Given the description of an element on the screen output the (x, y) to click on. 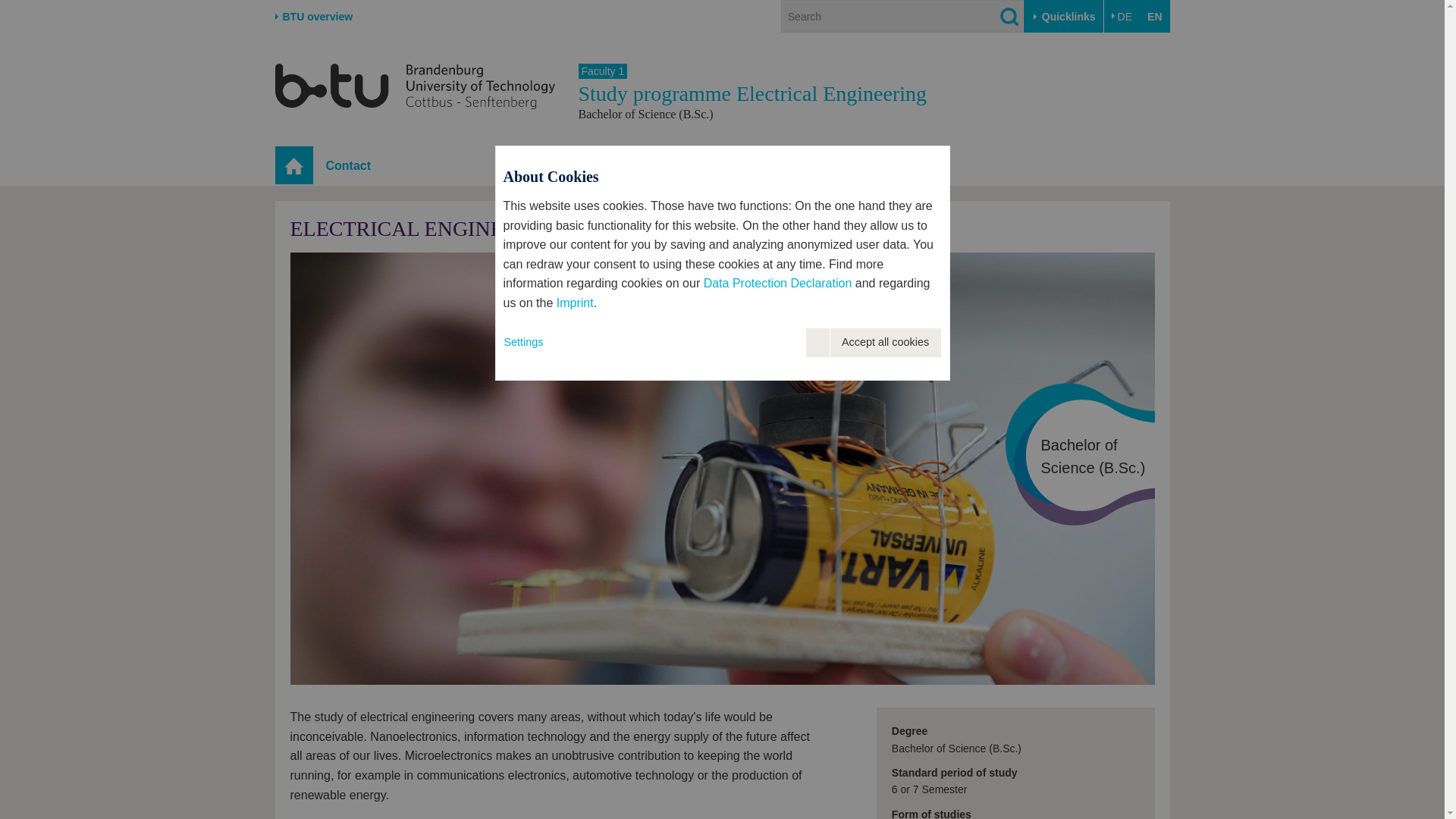
Quicklinks (1063, 16)
DE (1121, 16)
BTU overview (313, 16)
